Given the description of an element on the screen output the (x, y) to click on. 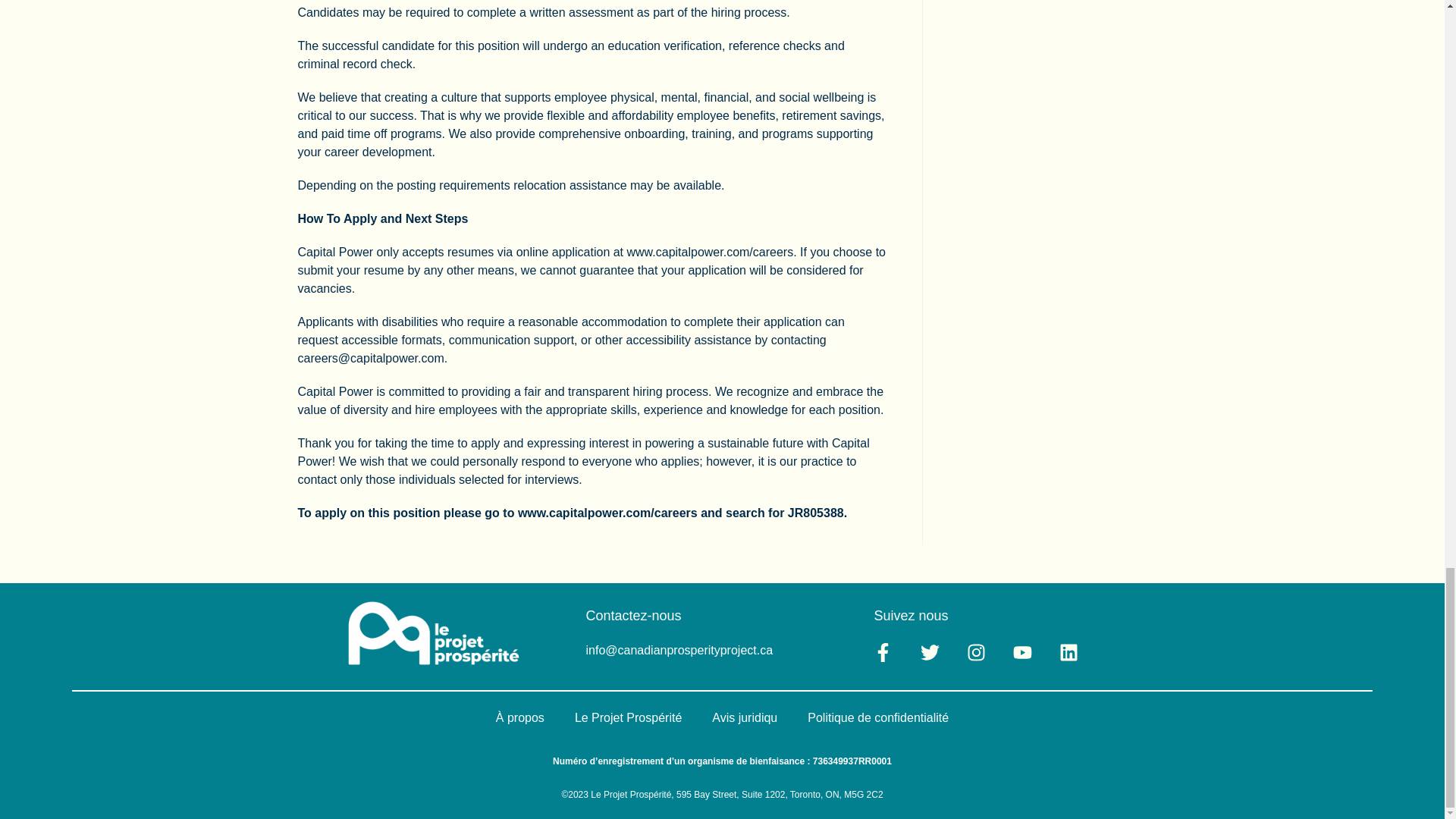
Avis juridiqu (744, 718)
